Given the description of an element on the screen output the (x, y) to click on. 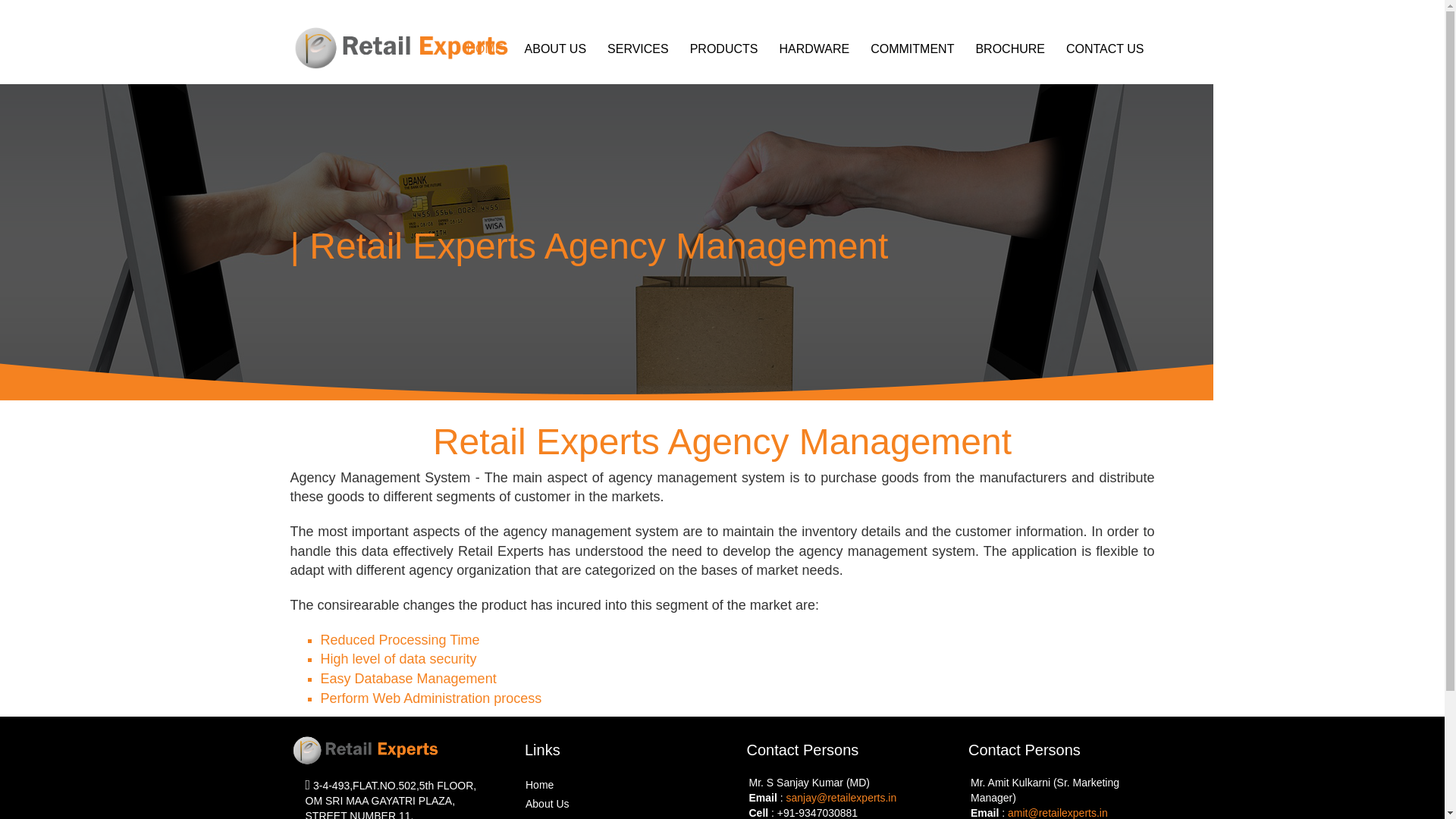
HOME (484, 48)
COMMITMENT (911, 48)
BROCHURE (1008, 48)
Home (539, 784)
HARDWARE (813, 48)
Services (545, 818)
CONTACT US (1104, 48)
ABOUT US (554, 48)
SERVICES (636, 48)
About Us (547, 803)
